Given the description of an element on the screen output the (x, y) to click on. 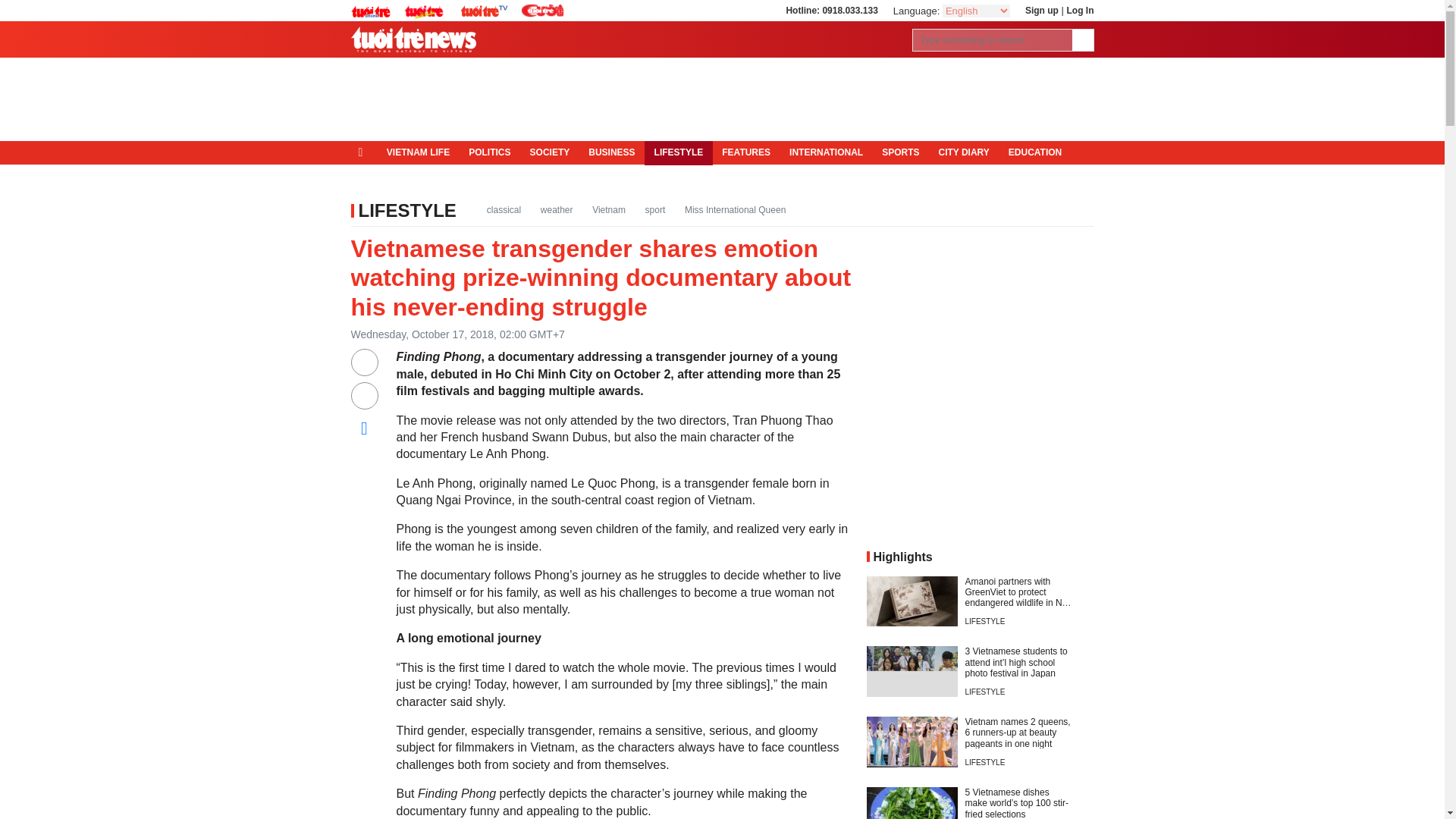
Society (549, 152)
FEATURES (746, 152)
POLITICS (489, 152)
BUSINESS (612, 152)
Vietname Life (417, 152)
sport (655, 209)
SPORTS (900, 152)
SOCIETY (549, 152)
Sign up (1041, 9)
Features (746, 152)
